Given the description of an element on the screen output the (x, y) to click on. 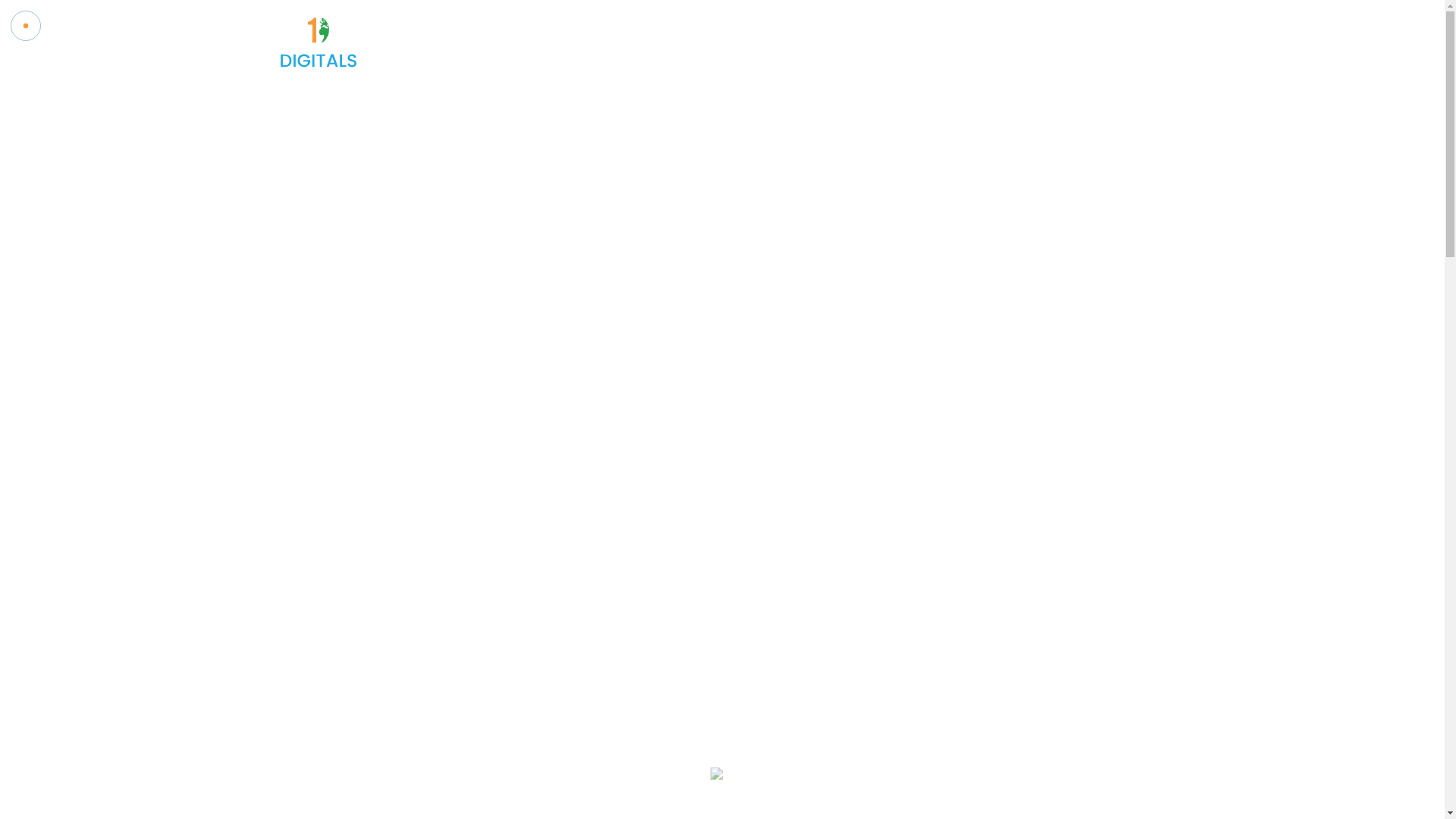
submit Element type: text (311, 554)
